Given the description of an element on the screen output the (x, y) to click on. 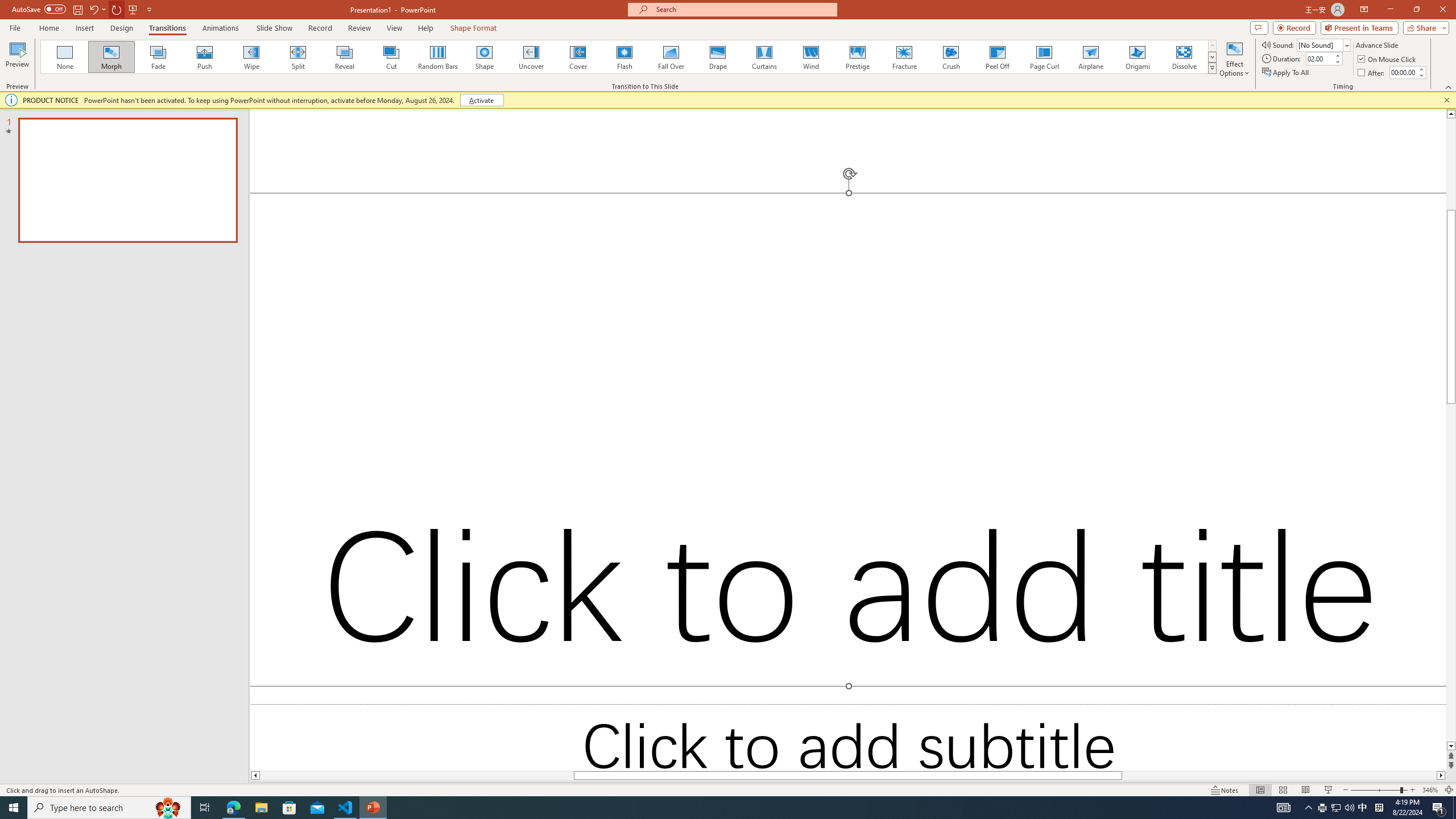
Zoom 346% (1430, 790)
Class: MsoCommandBar (728, 789)
Reveal (344, 56)
Prestige (857, 56)
Duration (1319, 58)
Close this message (1446, 99)
Effect Options (1234, 58)
